Given the description of an element on the screen output the (x, y) to click on. 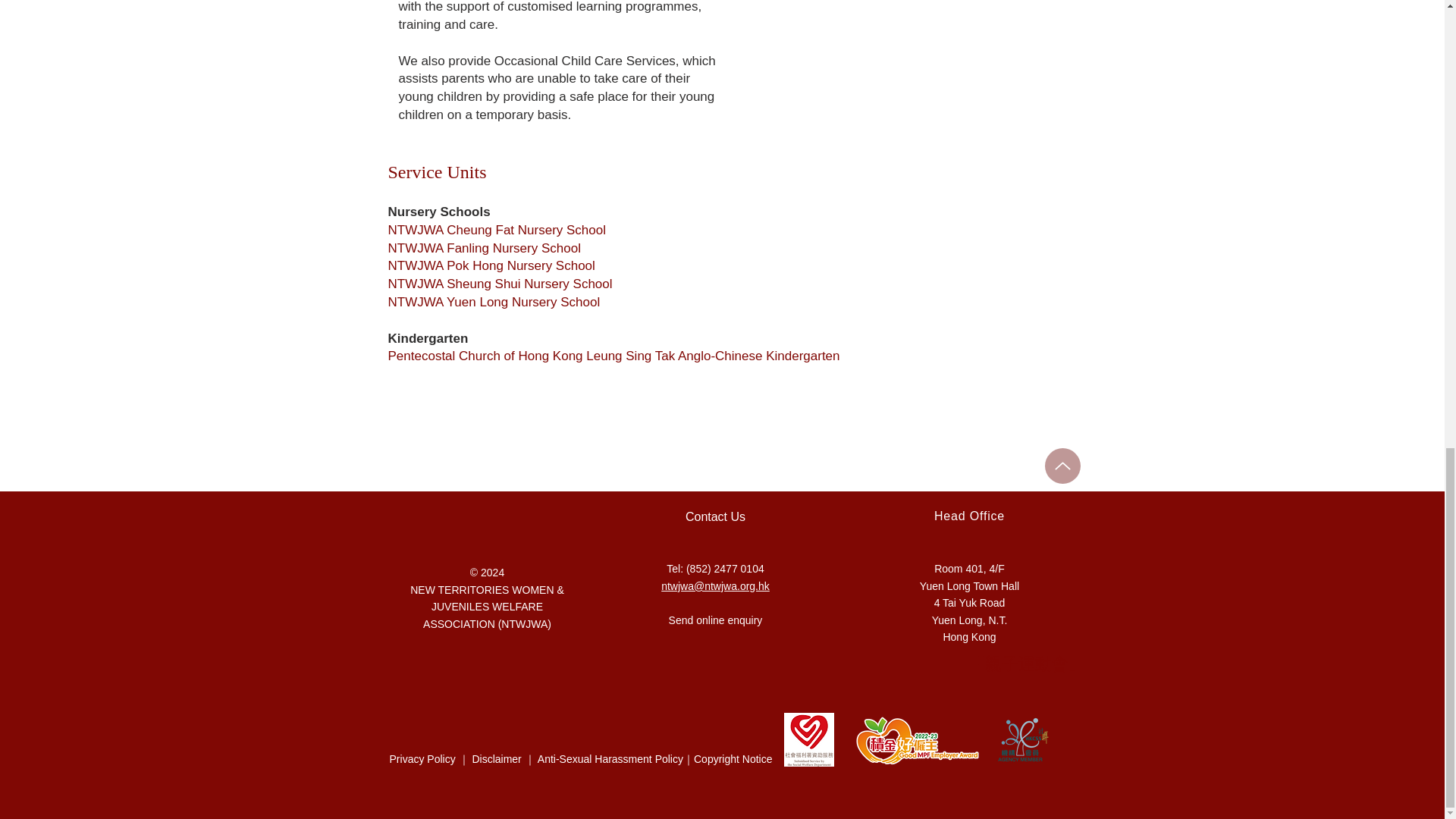
Copyright Notice (733, 758)
Privacy Policy (422, 758)
NTWJWA Yuen Long Nursery School (493, 301)
NTWJWA Cheung Fat Nursery School (497, 229)
NTWJWA Sheung Shui Nursery School (500, 283)
NTWJWA Pok Hong Nursery School (491, 265)
Send online enquiry (715, 620)
Disclaimer (496, 758)
NTWJWA Fanling Nursery School (484, 247)
Anti-Sexual Harassment Policy (609, 758)
